Given the description of an element on the screen output the (x, y) to click on. 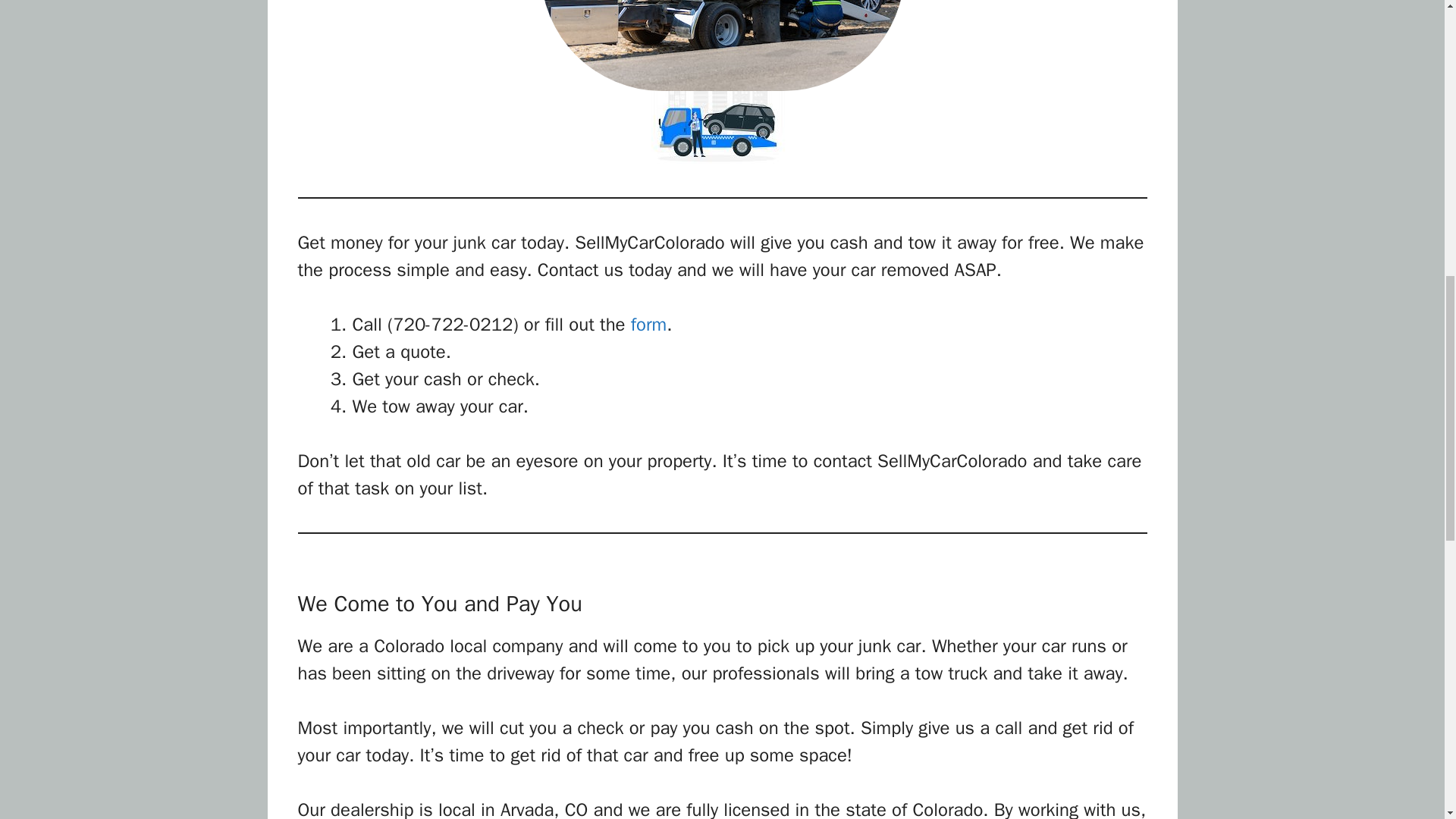
form (648, 323)
